Given the description of an element on the screen output the (x, y) to click on. 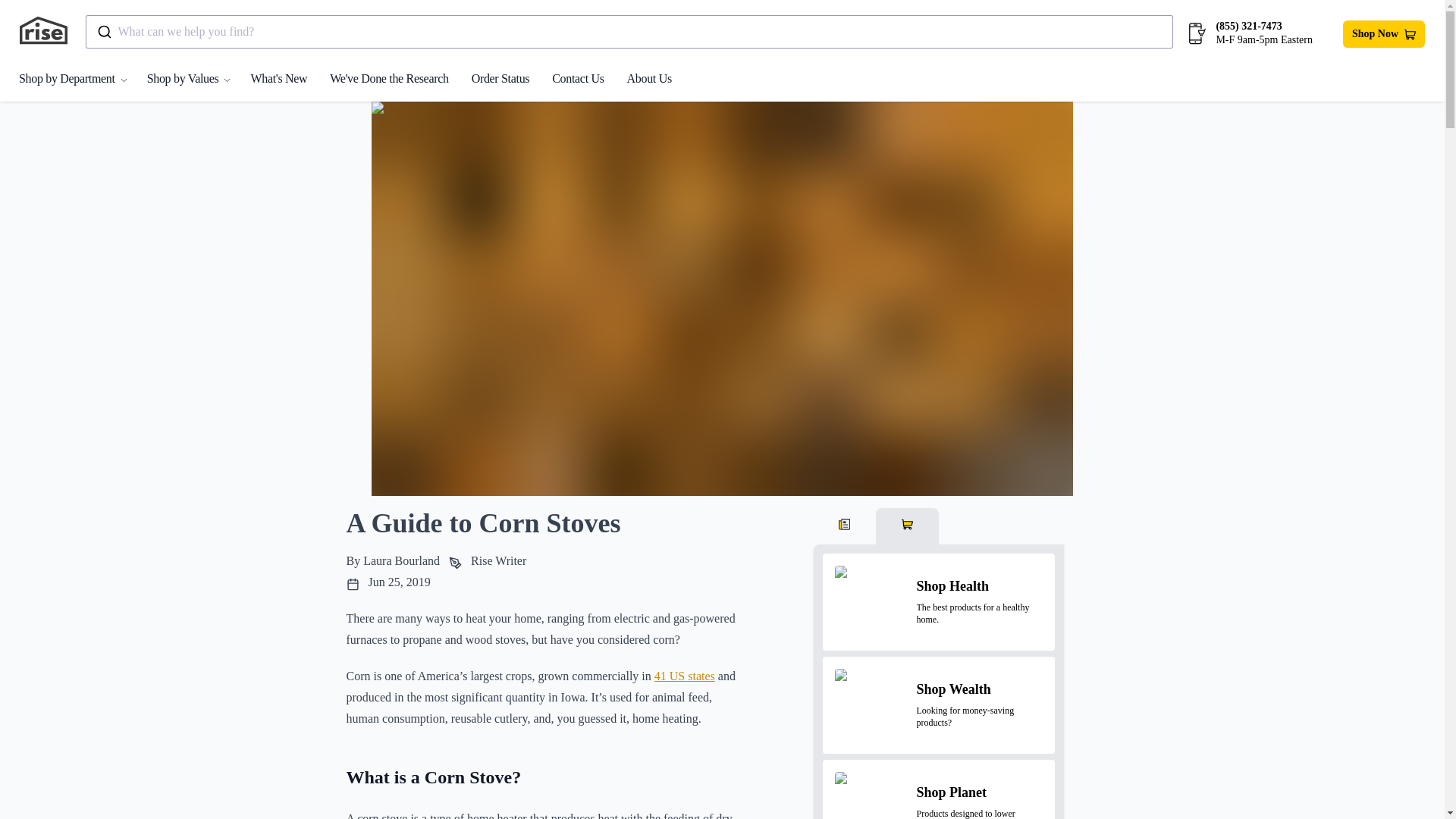
Shop Now (1383, 33)
Shop by Department (82, 77)
What can we help you find? (629, 31)
